Given the description of an element on the screen output the (x, y) to click on. 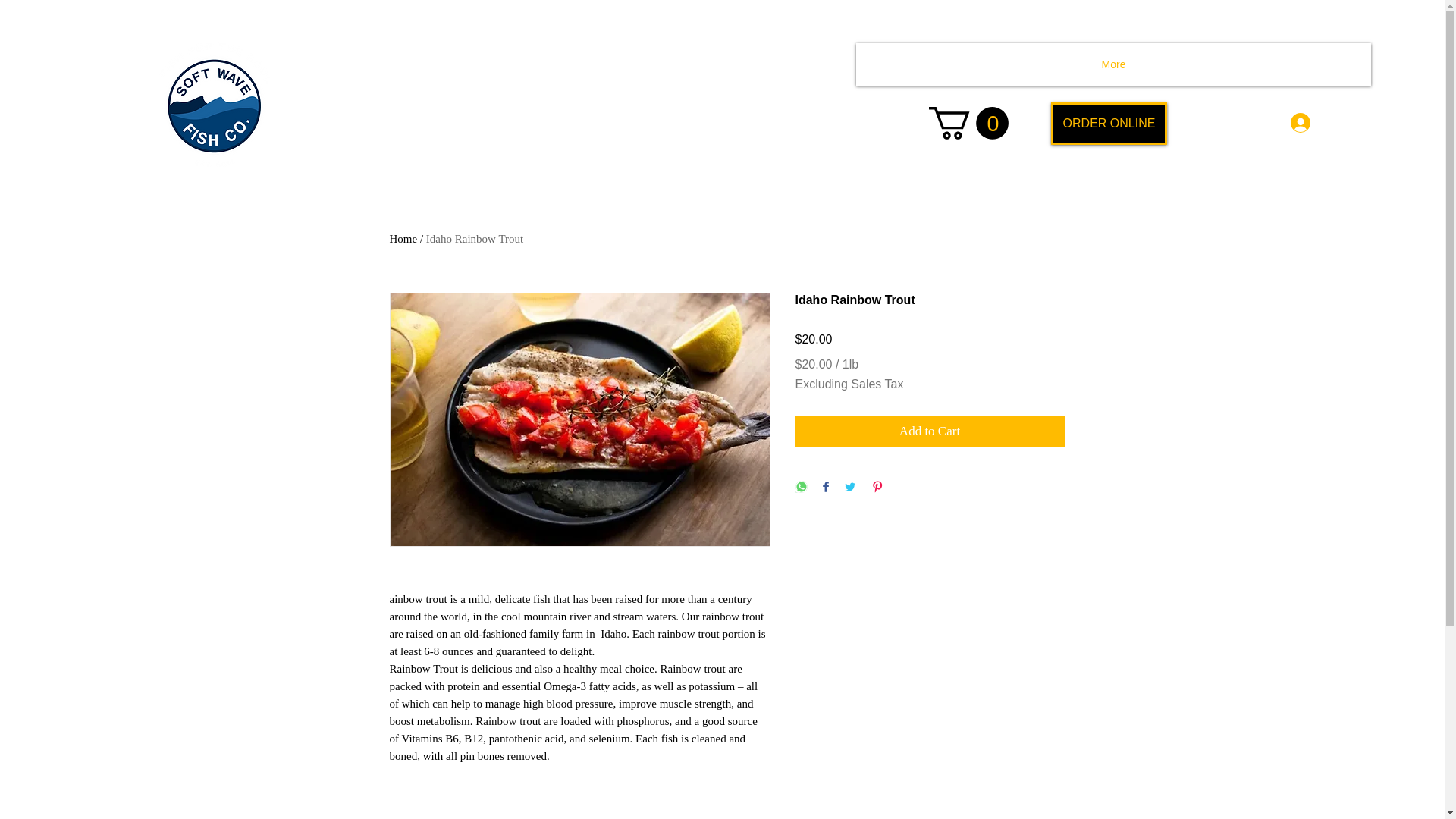
ORDER ONLINE (1109, 123)
Idaho Rainbow Trout (474, 238)
0 (968, 123)
Log In (1323, 122)
Home (403, 238)
Add to Cart (929, 431)
0 (968, 123)
